Given the description of an element on the screen output the (x, y) to click on. 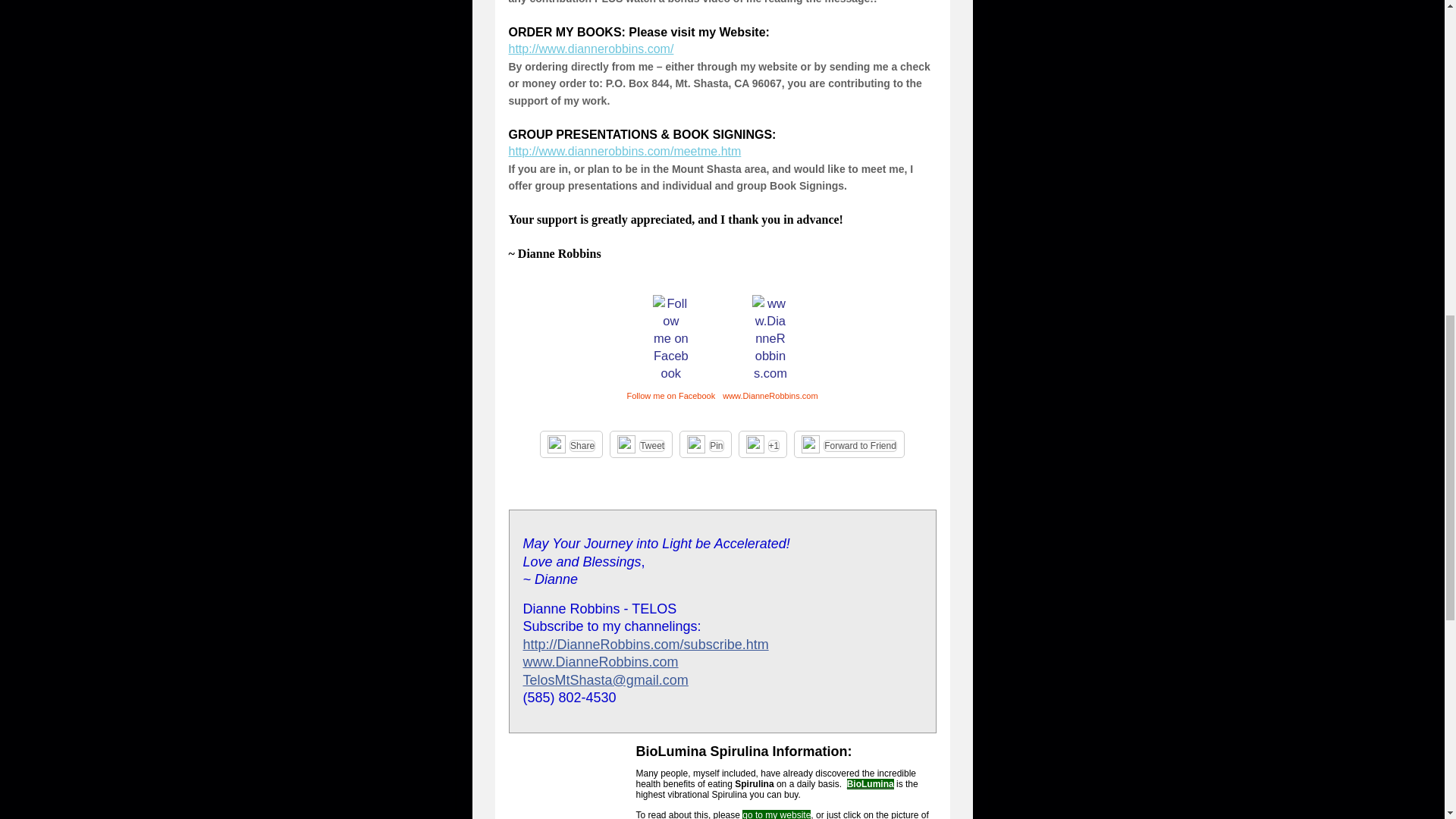
www.DianneRobbins.com (769, 395)
Pin (716, 445)
Tweet (652, 445)
Follow me on Facebook (670, 395)
BioLumina (870, 783)
go to my website (776, 814)
Share (582, 445)
www.DianneRobbins.com (600, 661)
Forward to Friend (860, 445)
